Given the description of an element on the screen output the (x, y) to click on. 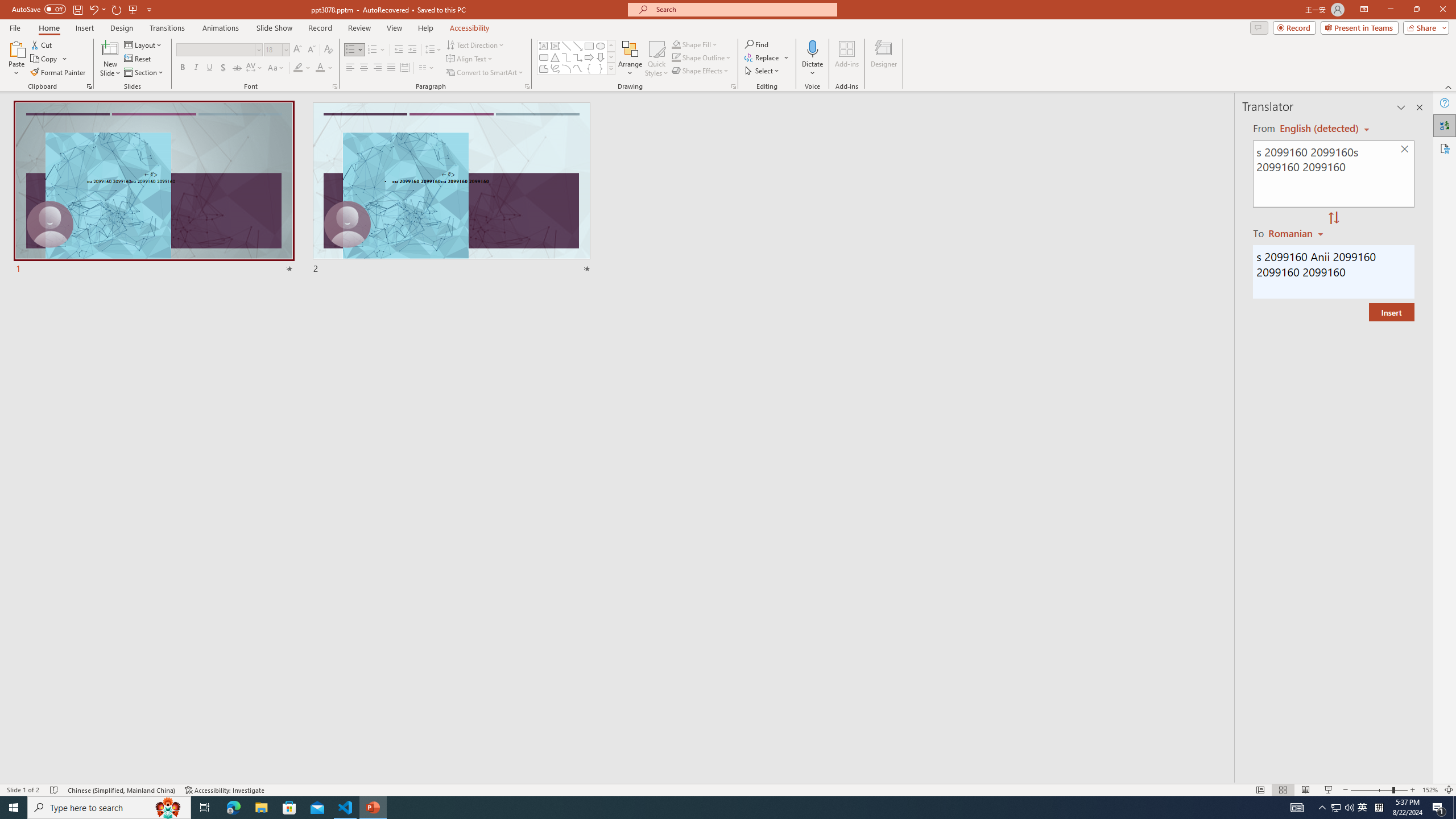
Zoom 152% (1430, 790)
Romanian (1296, 232)
